Given the description of an element on the screen output the (x, y) to click on. 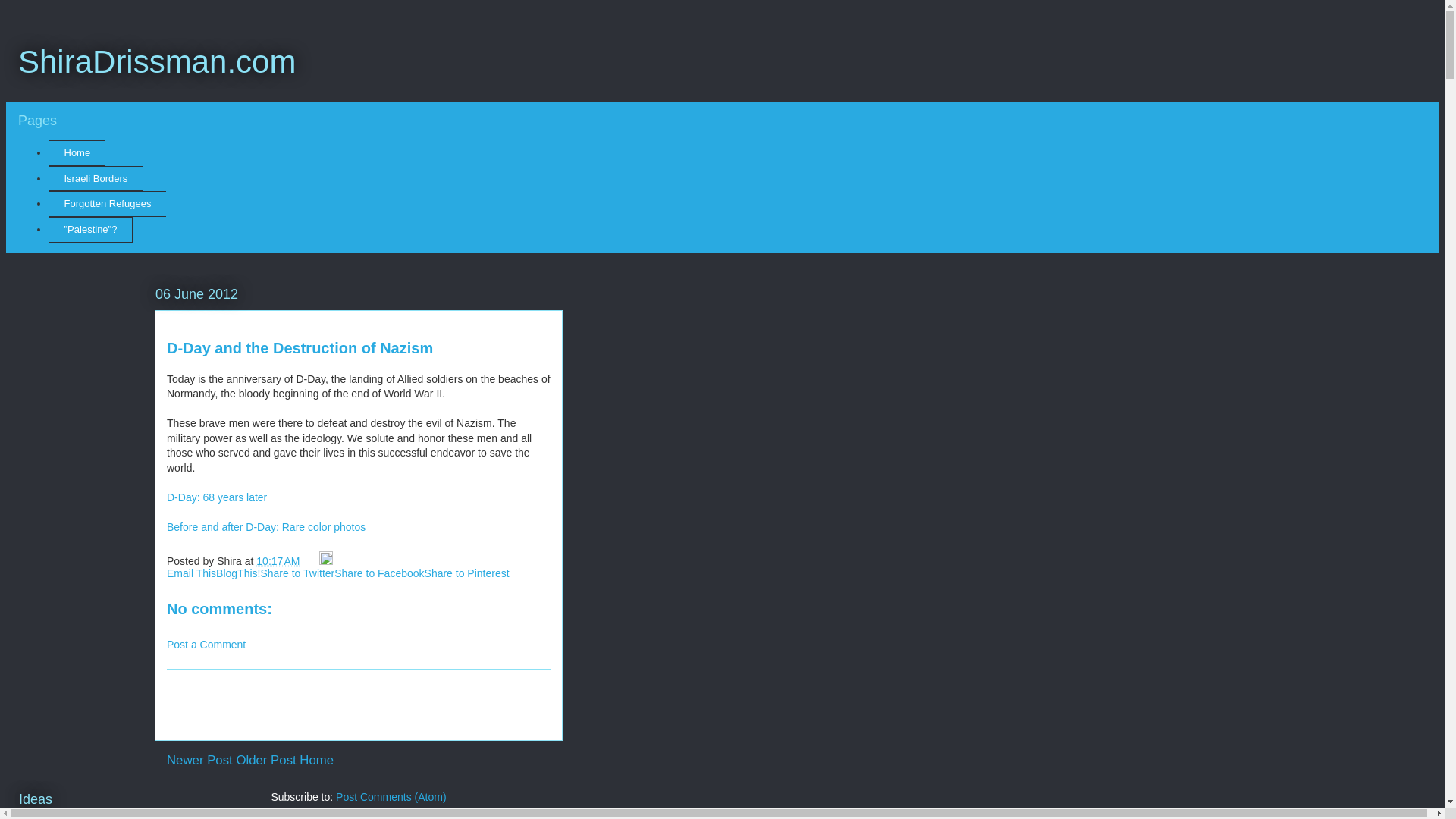
D-Day: 68 years later (216, 497)
Share to Pinterest (467, 573)
Share to Facebook (378, 573)
"Palestine"? (90, 229)
Share to Pinterest (467, 573)
permanent link (277, 561)
Share to Facebook (378, 573)
Older Post (265, 759)
Newer Post (199, 759)
Home (76, 153)
Home (316, 759)
Older Post (265, 759)
Email Post (310, 561)
Edit Post (325, 561)
Share to Twitter (297, 573)
